Given the description of an element on the screen output the (x, y) to click on. 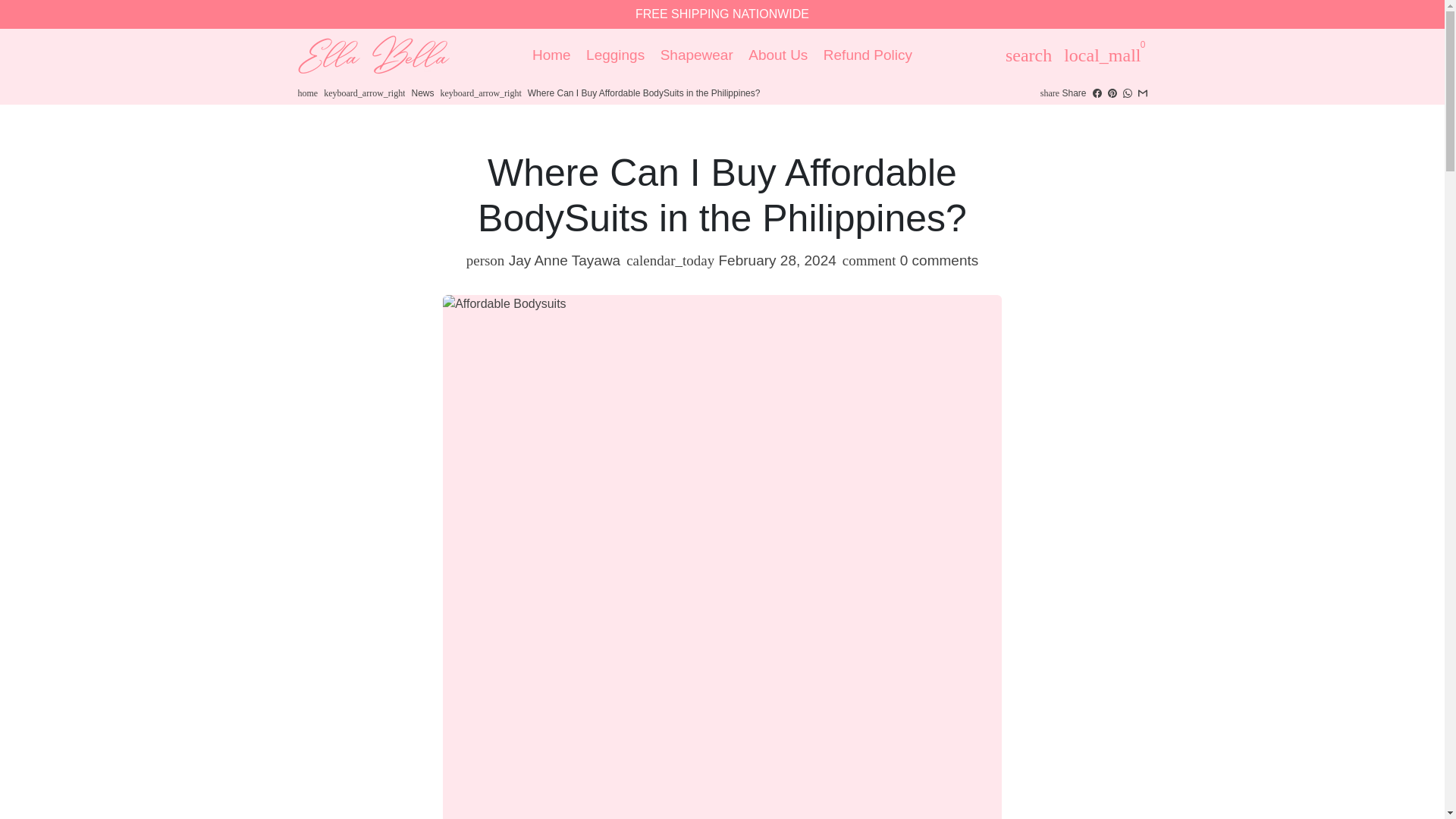
Search (1028, 54)
home (307, 92)
Ella bella (307, 92)
News (421, 92)
Where Can I Buy Affordable BodySuits in the Philippines? (643, 92)
Shapewear (696, 54)
Leggings (614, 54)
Home (550, 54)
About Us (777, 54)
Cart (1102, 54)
